Given the description of an element on the screen output the (x, y) to click on. 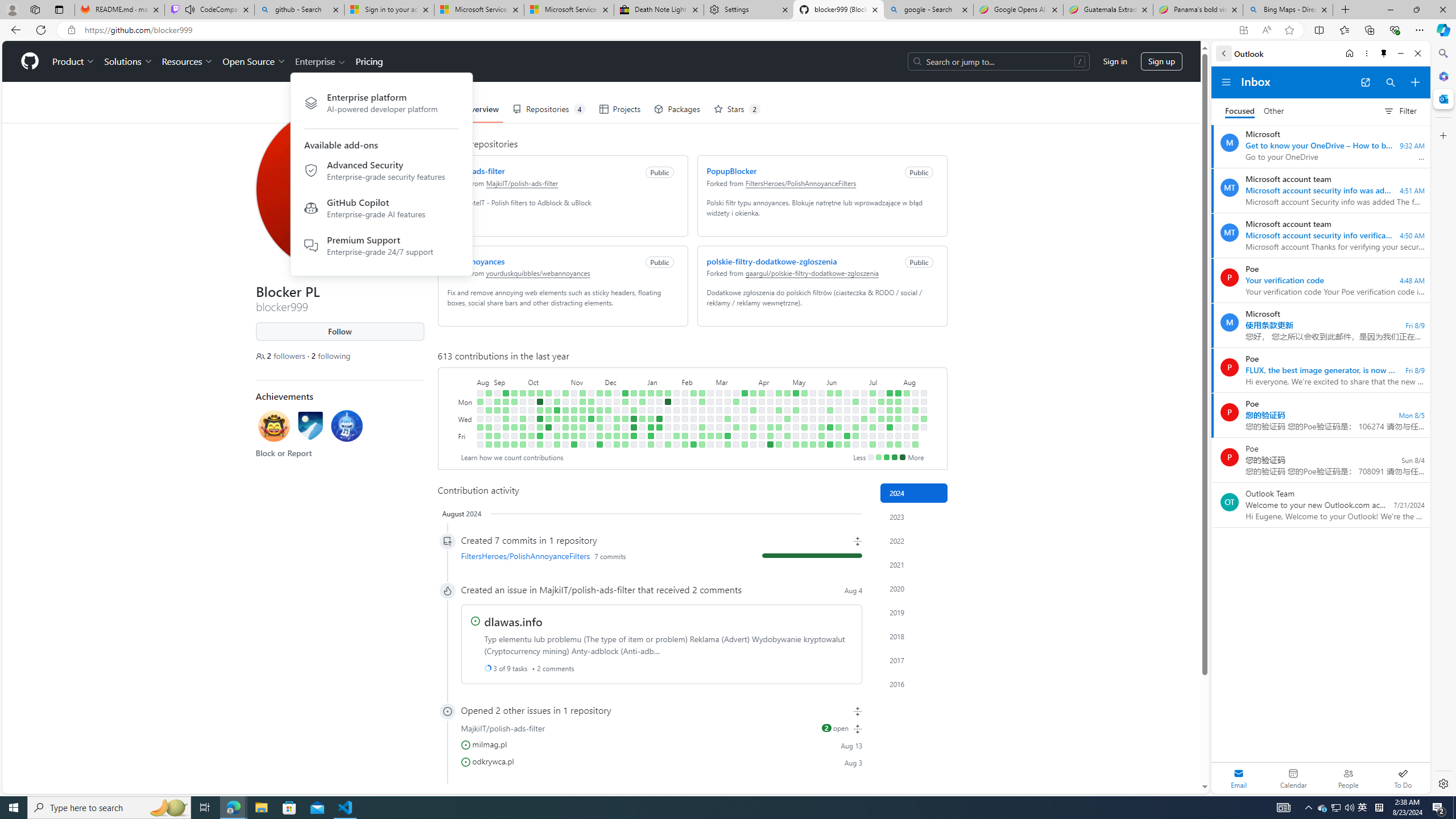
2 contributions on July 15th. (880, 401)
3 contributions on April 27th. (777, 444)
Enterprise platform AI-powered developer platform (381, 102)
No contributions on August 9th. (906, 435)
No contributions on April 29th. (786, 401)
Product (74, 60)
No contributions on July 19th. (880, 435)
No contributions on January 25th. (667, 427)
2 contributions on May 1st. (786, 418)
Pricing (368, 60)
3 contributions on September 13th. (505, 418)
22 contributions on October 9th. (539, 401)
2 contributions on July 11th. (872, 427)
Solutions (128, 60)
2 contributions on May 12th. (804, 392)
